Given the description of an element on the screen output the (x, y) to click on. 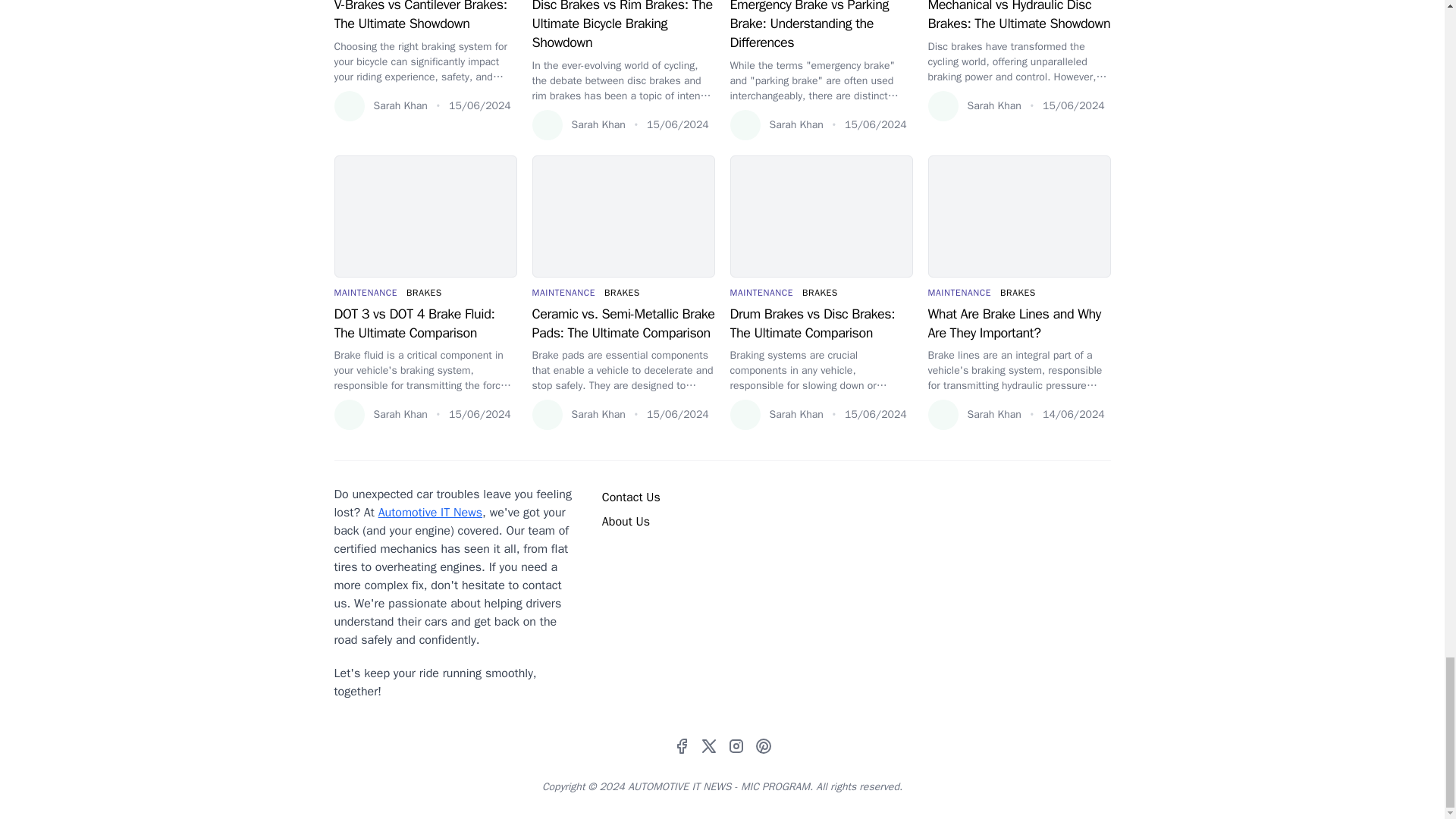
Sarah Khan (379, 105)
V-Brakes vs Cantilever Brakes: The Ultimate Showdown (424, 16)
